Given the description of an element on the screen output the (x, y) to click on. 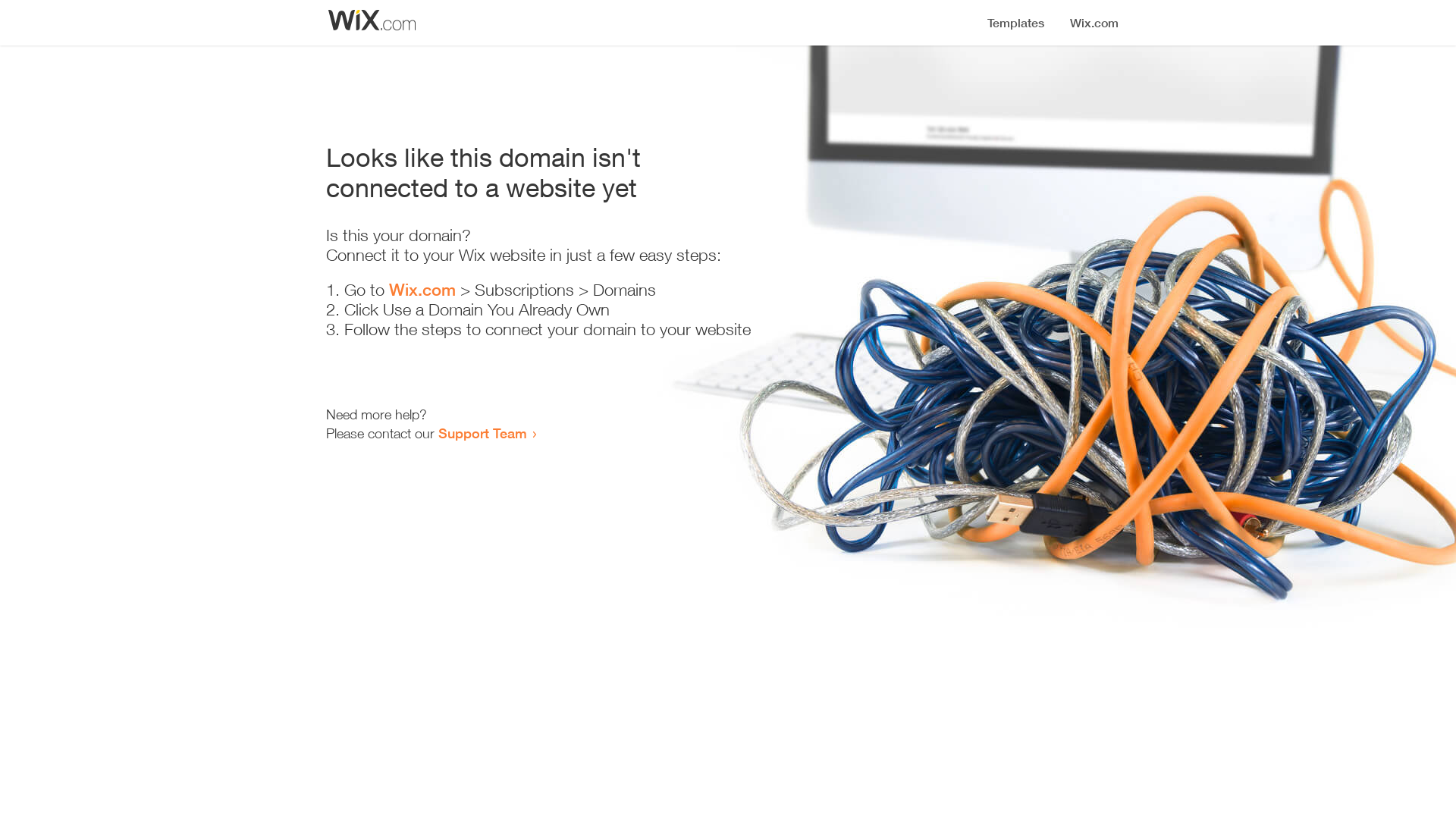
Wix.com Element type: text (422, 289)
Support Team Element type: text (482, 432)
